Given the description of an element on the screen output the (x, y) to click on. 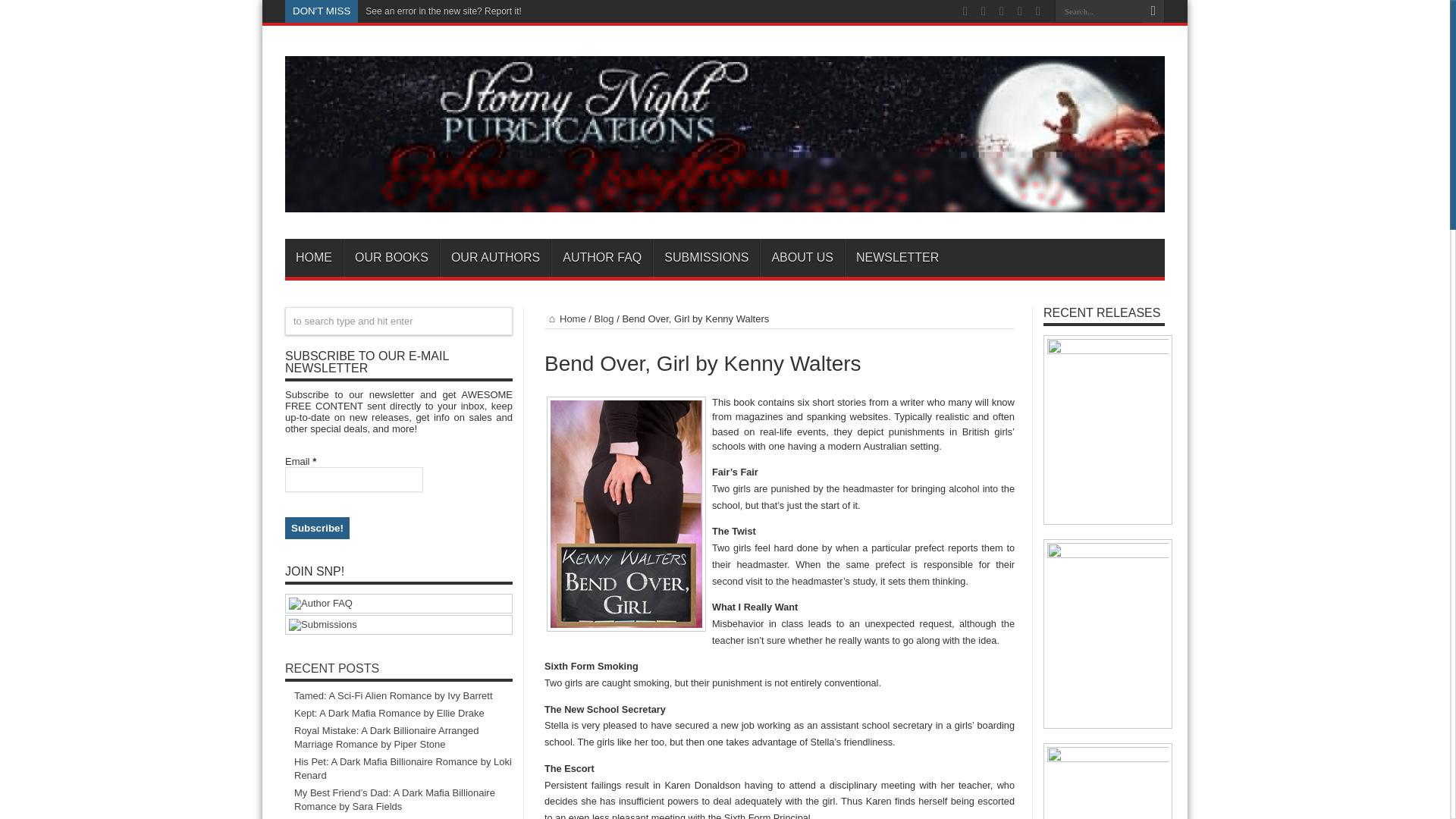
OUR BOOKS (391, 257)
See an error in the new site? Report it! (443, 11)
OUR AUTHORS (494, 257)
Subscribe! (317, 527)
to search type and hit enter (398, 320)
Email (354, 479)
Stormy Night Publications (724, 200)
Search... (1097, 11)
Search (1152, 11)
See an error in the new site? Report it! (443, 11)
